Given the description of an element on the screen output the (x, y) to click on. 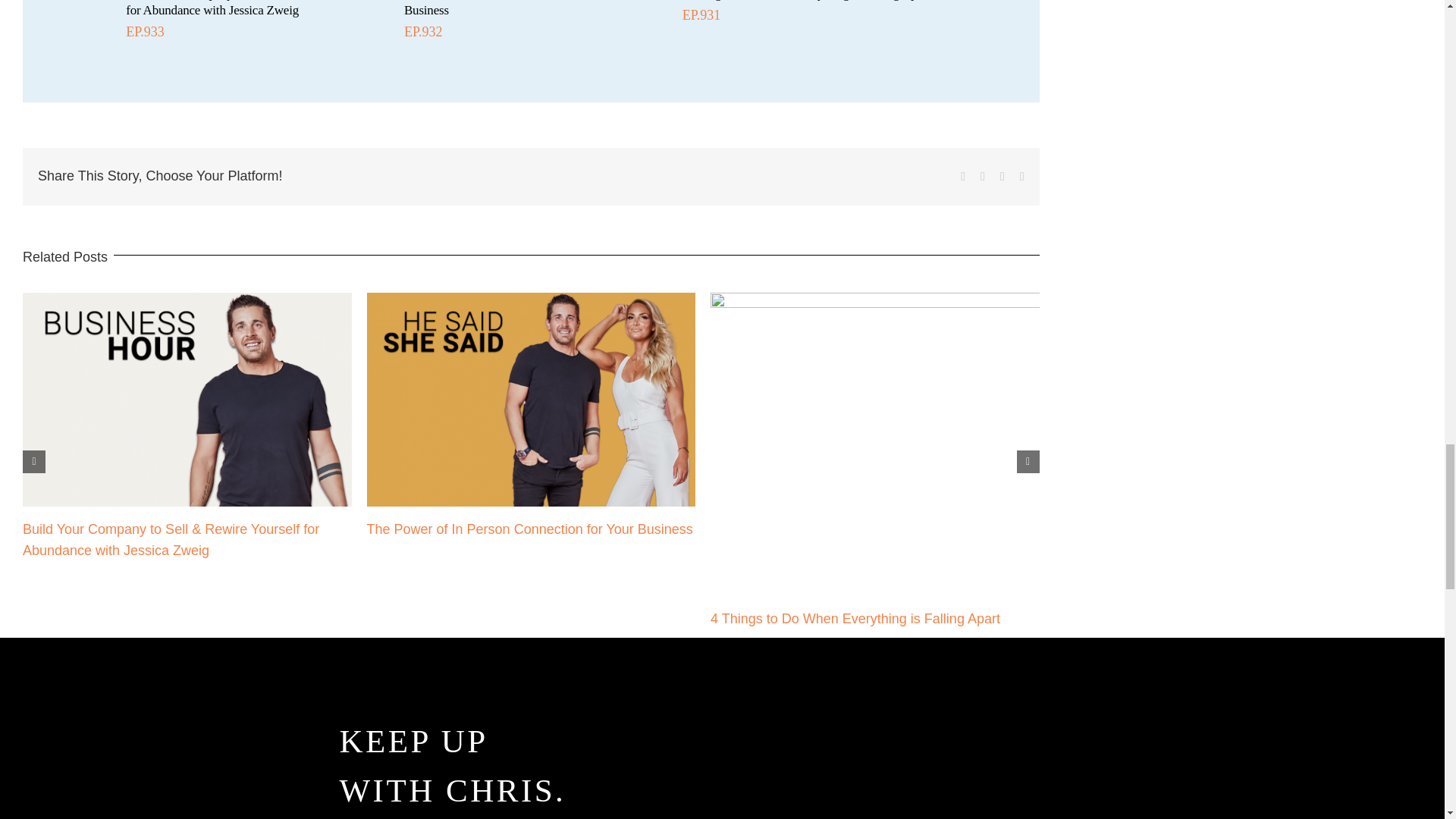
The Power of In Person Connection for Your Business (516, 8)
4 Things to Do When Everything is Falling Apart (855, 618)
The Power of In Person Connection for Your Business (529, 529)
